Given the description of an element on the screen output the (x, y) to click on. 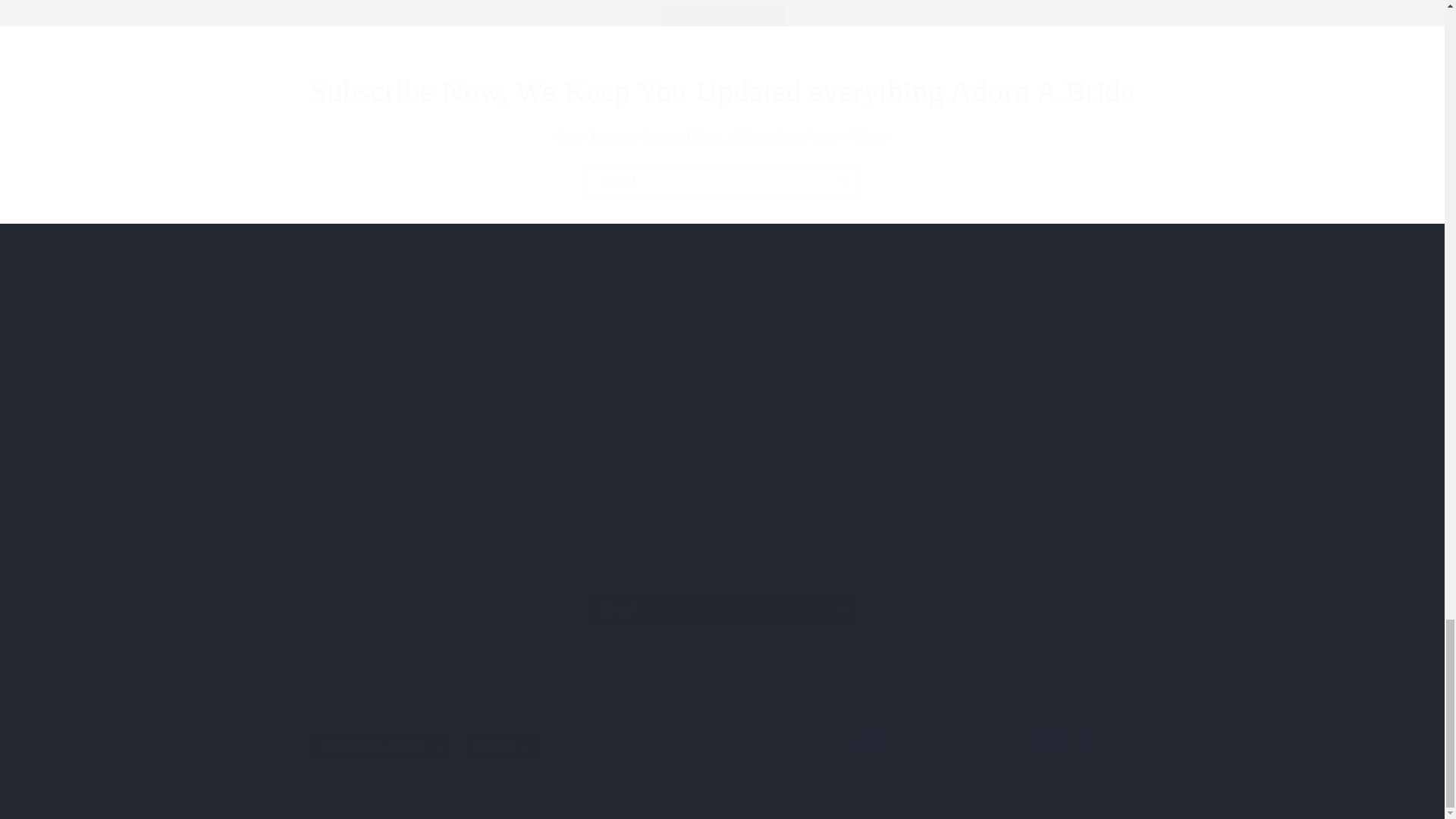
Subscribe Now, We Keep You Updated everything Adorn A Bride (721, 91)
Email (722, 181)
